Given the description of an element on the screen output the (x, y) to click on. 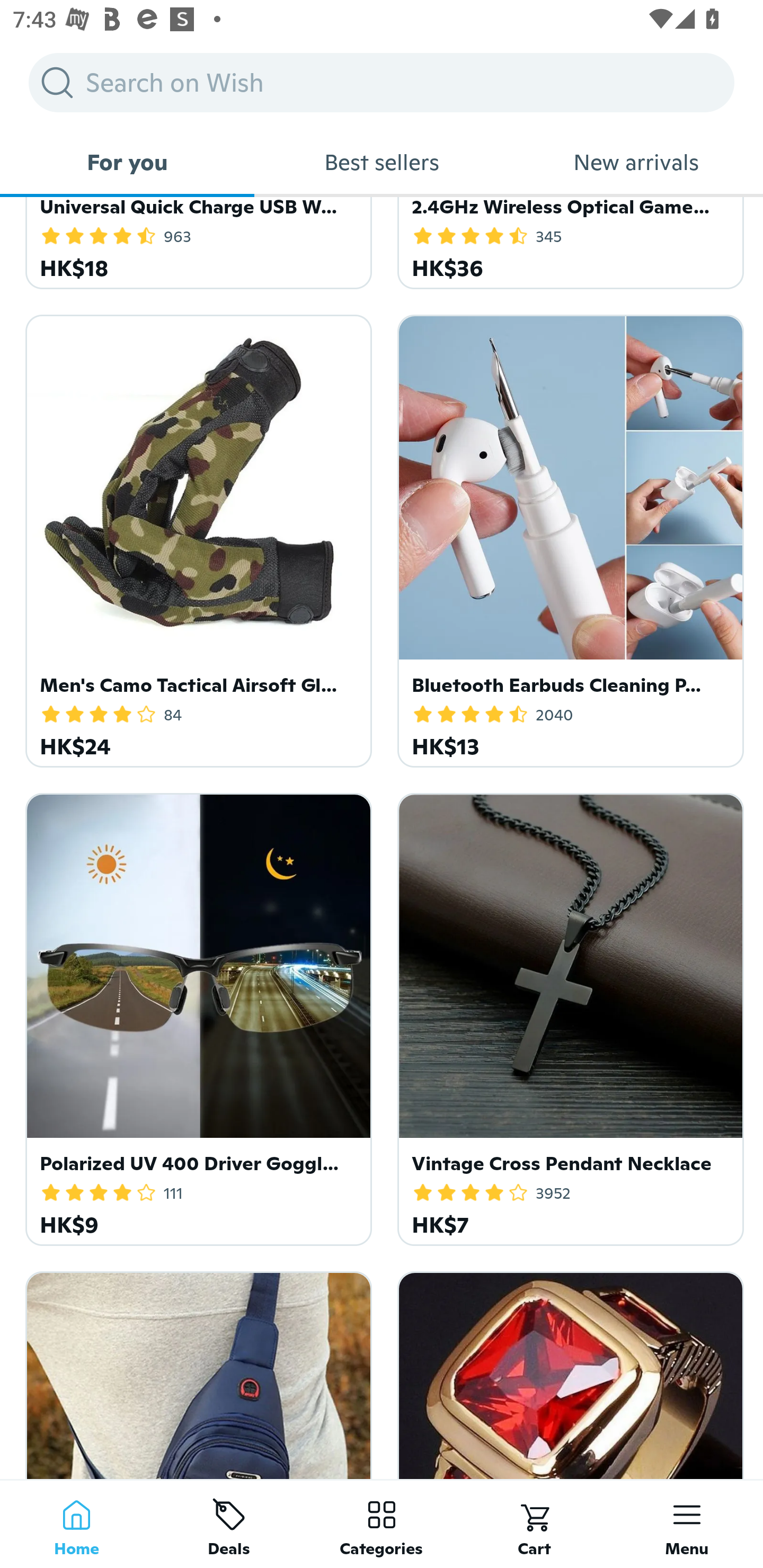
Search on Wish (381, 82)
For you (127, 161)
Best sellers (381, 161)
New arrivals (635, 161)
Home (76, 1523)
Deals (228, 1523)
Categories (381, 1523)
Cart (533, 1523)
Menu (686, 1523)
